Given the description of an element on the screen output the (x, y) to click on. 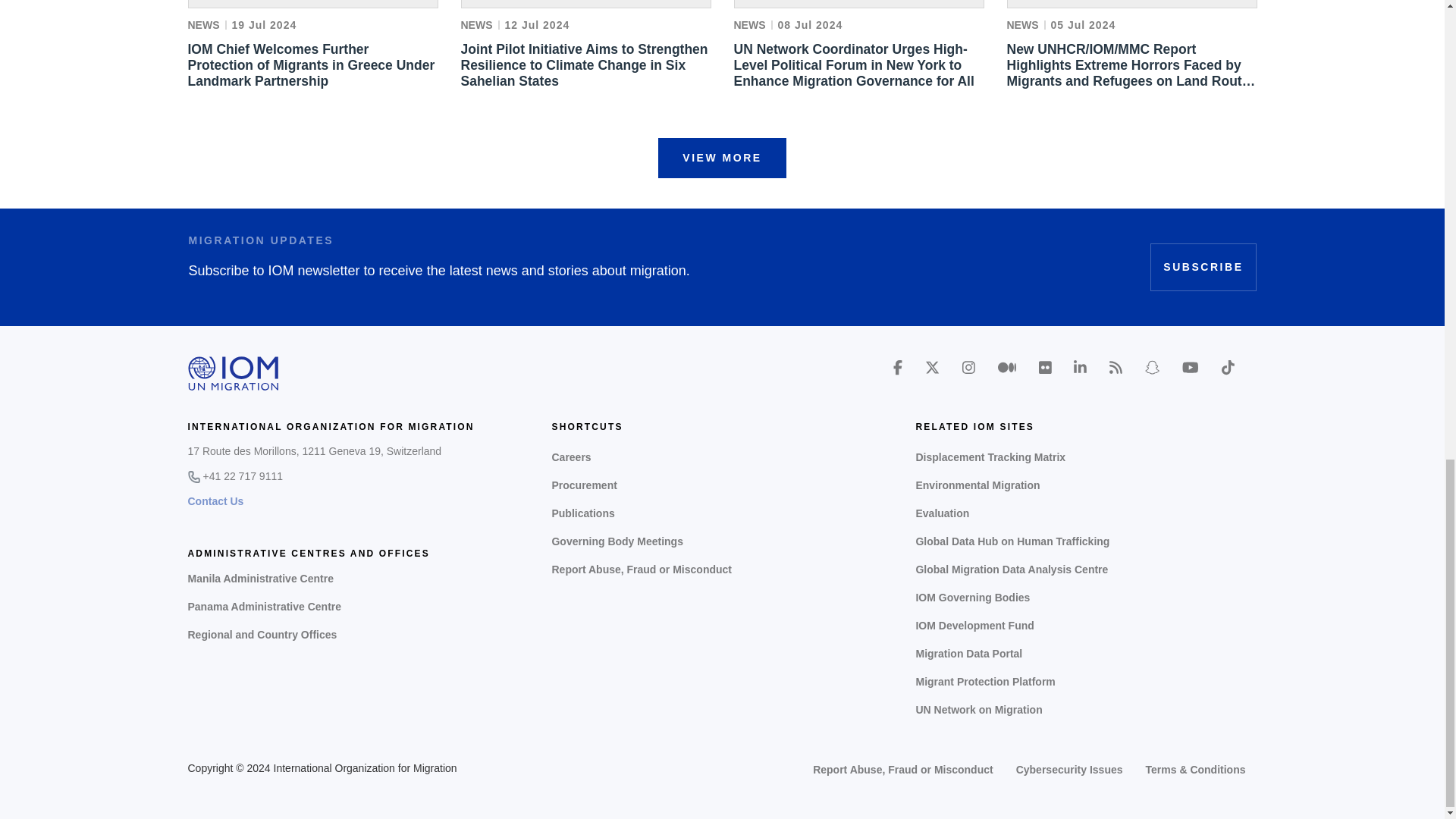
Home (233, 372)
Governing Body Meetings (721, 541)
